Given the description of an element on the screen output the (x, y) to click on. 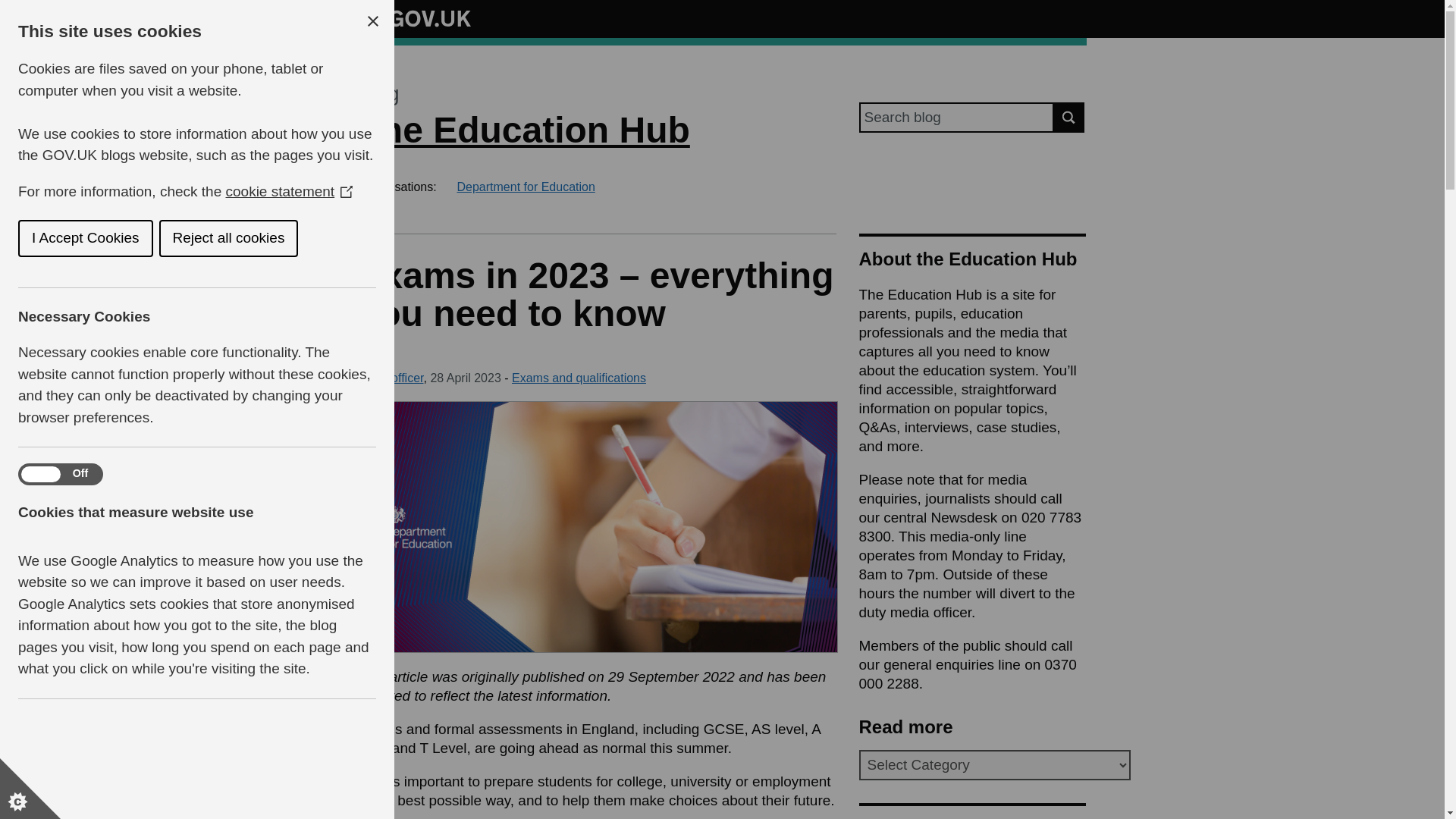
Search (1069, 117)
Skip to main content (11, 7)
Go to the GOV.UK homepage (414, 18)
GOV.UK (414, 18)
mediaofficer (390, 377)
GOV.UK (414, 15)
Posts by mediaofficer (390, 377)
Department for Education (525, 186)
Search (1069, 117)
Reject all cookies (132, 238)
